Given the description of an element on the screen output the (x, y) to click on. 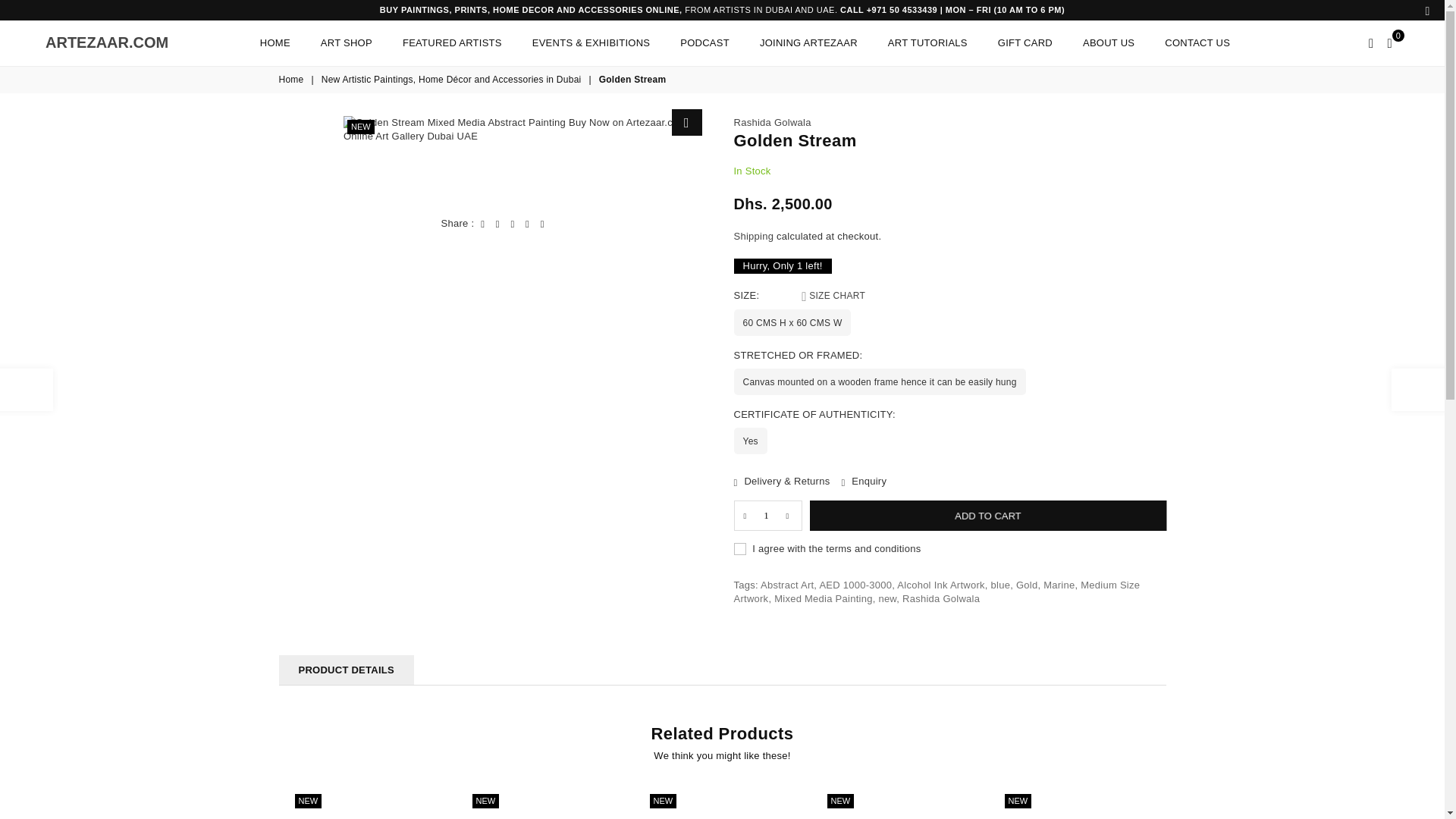
FEATURED ARTISTS (452, 42)
ART SHOP (346, 42)
Previous Product (26, 389)
Quantity (767, 515)
HOME (106, 42)
Rashida Golwala (274, 42)
Back to the home page (771, 122)
